Given the description of an element on the screen output the (x, y) to click on. 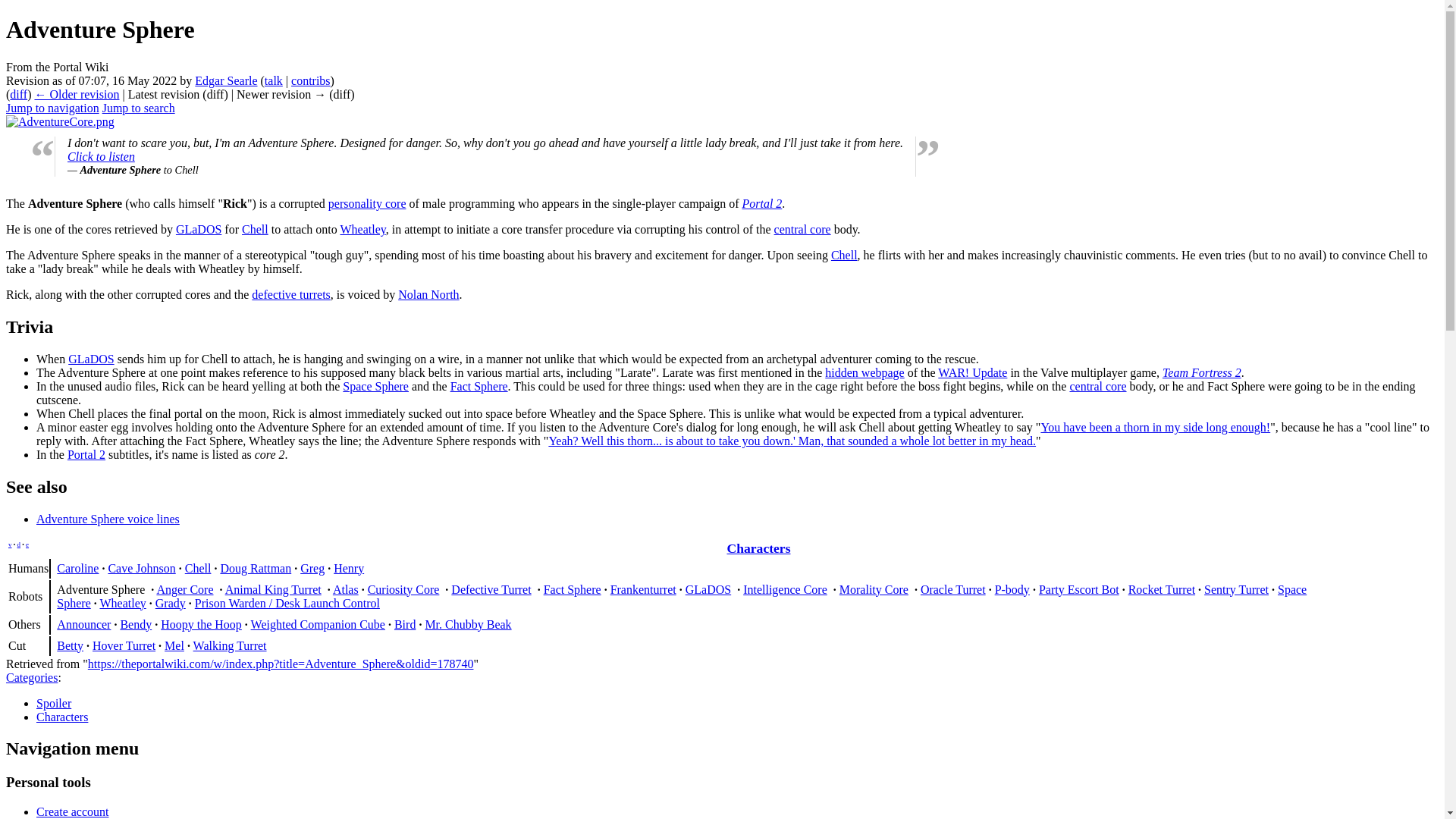
Cores (367, 203)
central core (1096, 386)
Portal 2 (761, 203)
central core (802, 228)
Adventure Sphere (18, 93)
Chell (844, 254)
Click to listen (100, 155)
defective turrets (290, 294)
Portal 2 (761, 203)
Characters (758, 547)
Adventure Sphere (76, 93)
Fact Sphere (478, 386)
Team Fortress 2 (1201, 372)
User talk:Edgar Searle (273, 80)
Space Sphere (375, 386)
